Given the description of an element on the screen output the (x, y) to click on. 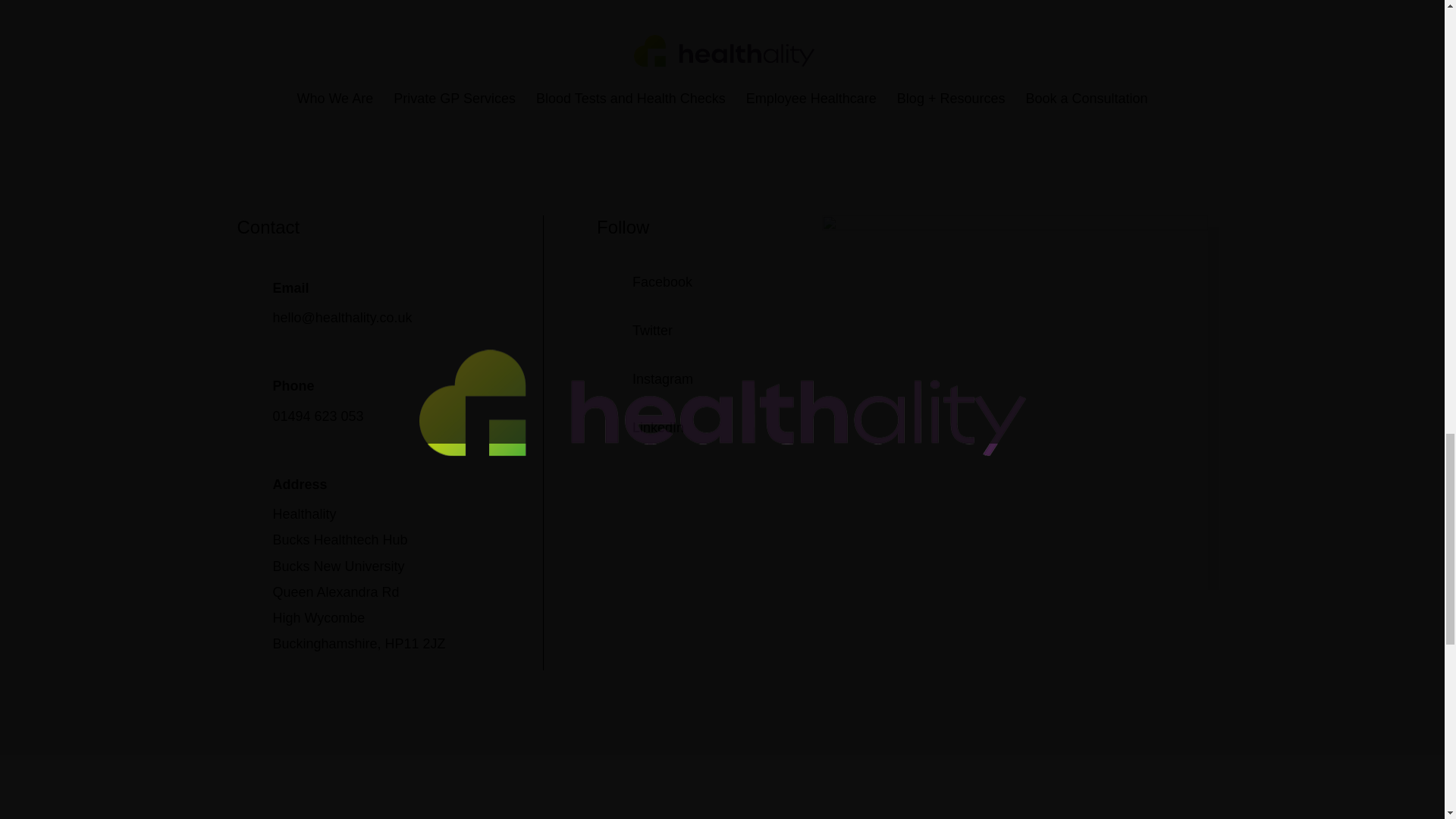
01494 623 053 (318, 416)
Email (290, 287)
adnan-1 (1015, 225)
